Given the description of an element on the screen output the (x, y) to click on. 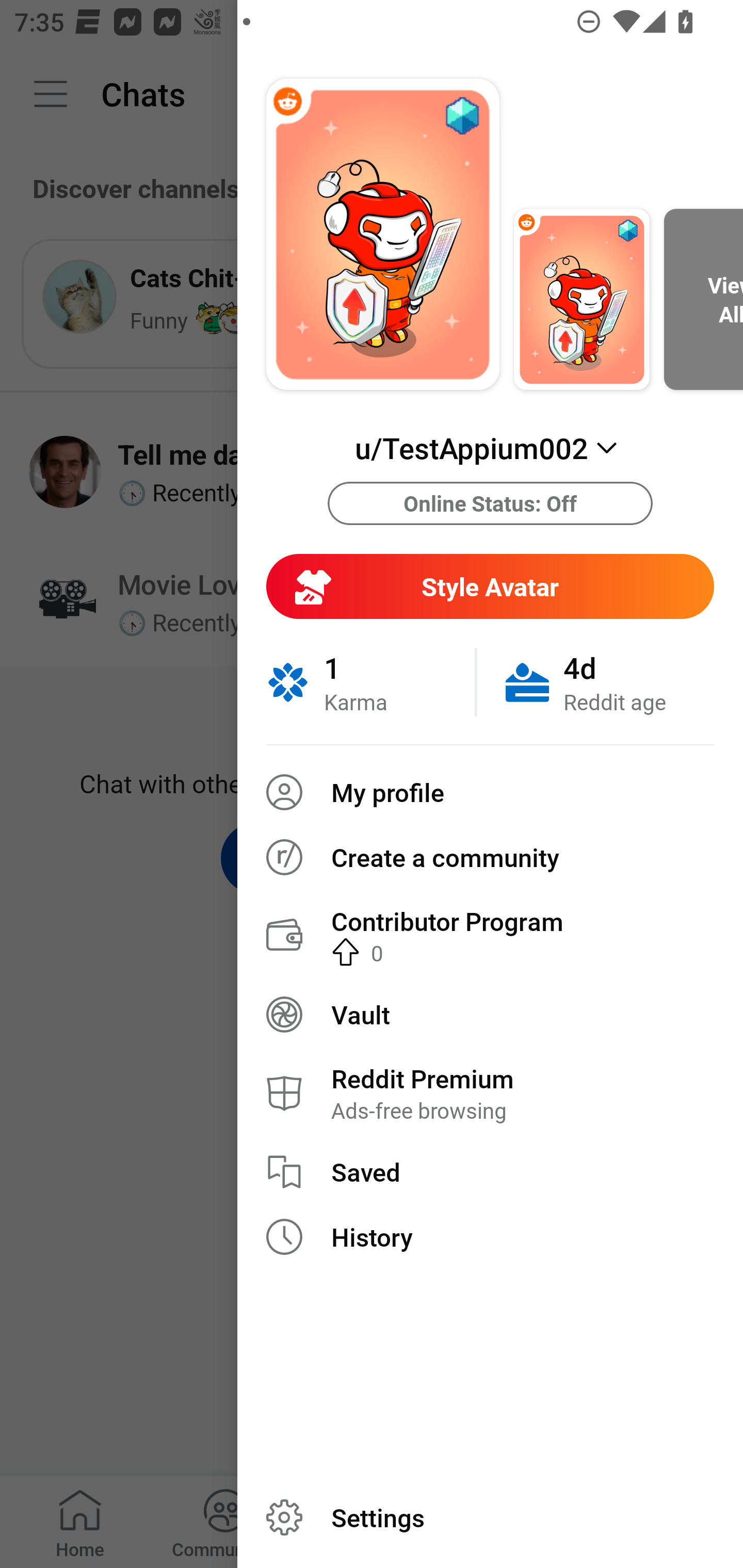
u/TestAppium002 (489, 447)
Online Status: Off (489, 503)
Style Avatar (489, 586)
1 Karma 1 Karma (369, 681)
My profile (490, 792)
Create a community (490, 856)
Contributor Program Contributor Program 0 (490, 935)
Vault (490, 1014)
Saved (490, 1171)
History (490, 1237)
Settings (490, 1517)
